Given the description of an element on the screen output the (x, y) to click on. 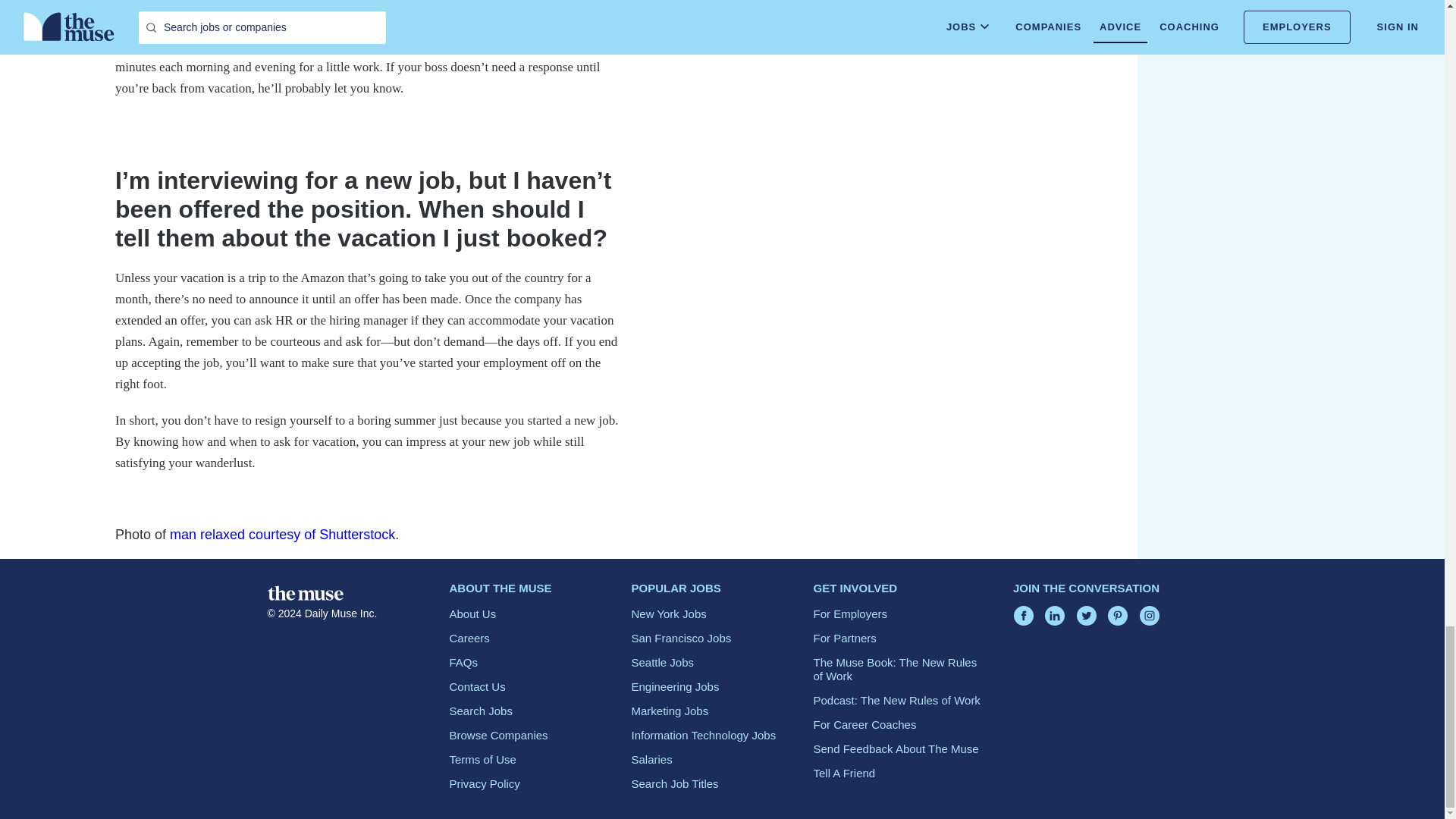
The Muse LogoA logo with "the muse" in white text. (304, 592)
